Given the description of an element on the screen output the (x, y) to click on. 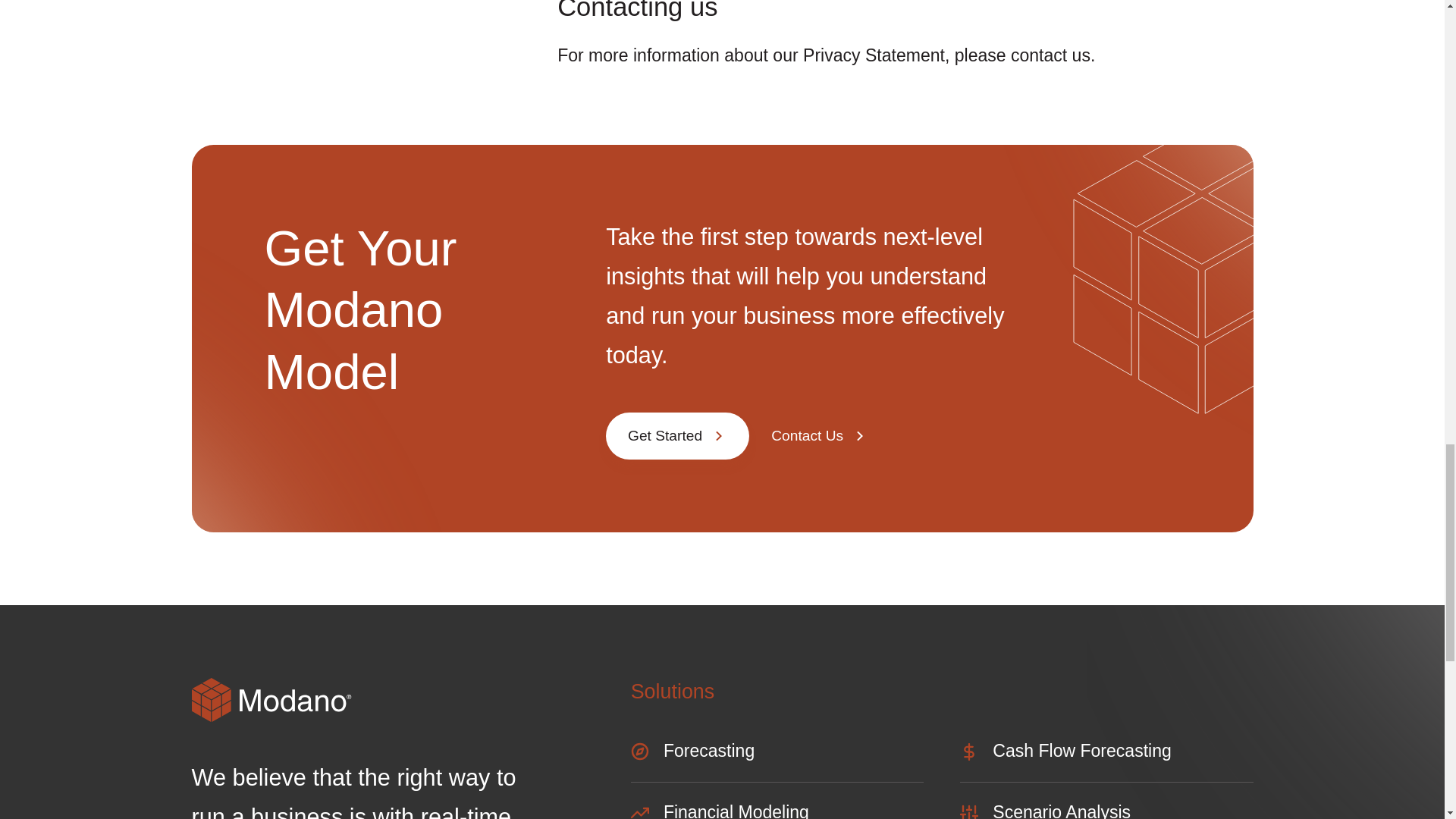
Contact Us (820, 435)
Forecasting (776, 758)
contact us (1050, 55)
Cash Flow Forecasting (1105, 758)
Scenario Analysis (1105, 807)
Financial Modeling (776, 807)
Get Started (677, 435)
